Given the description of an element on the screen output the (x, y) to click on. 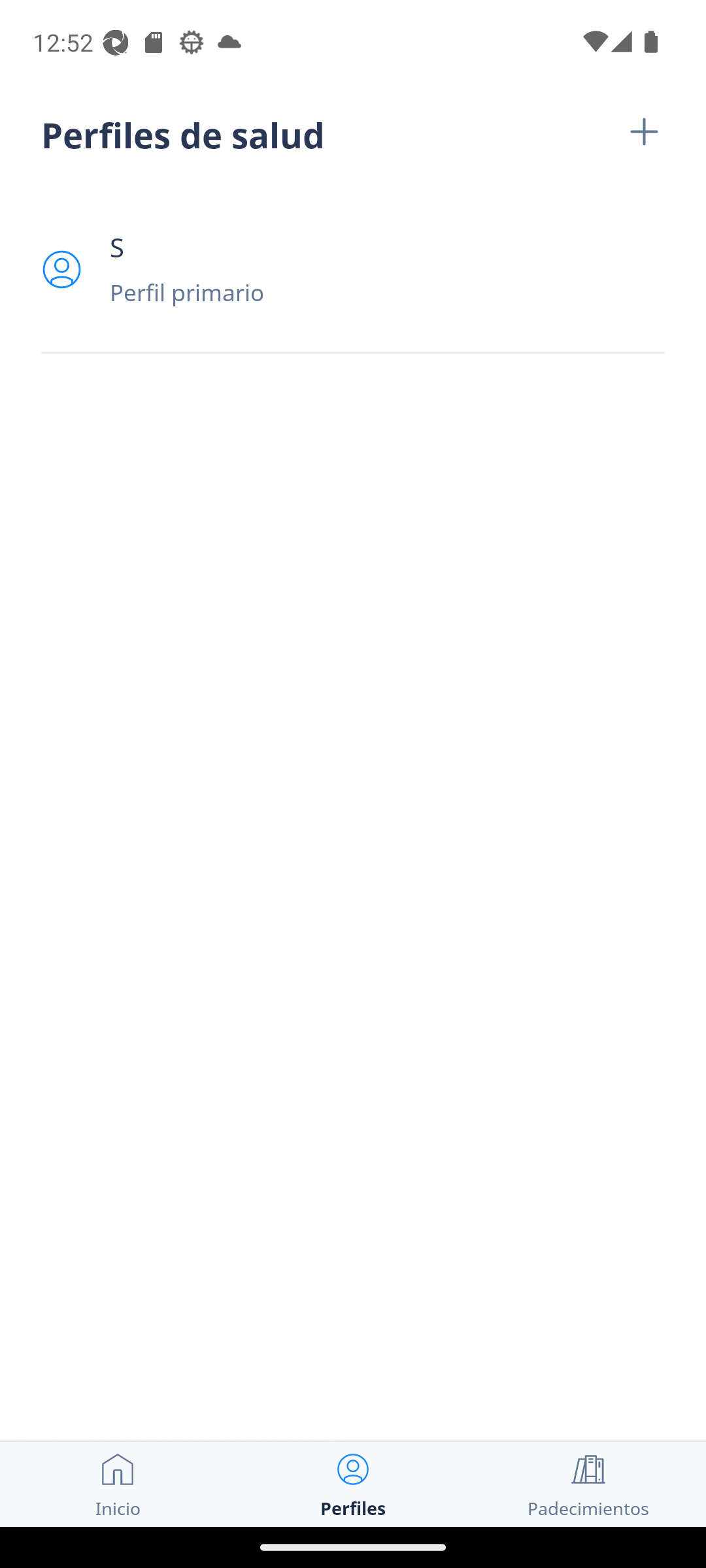
S Perfil primario (352, 269)
Inicio (117, 1484)
Perfiles (352, 1484)
Padecimientos (588, 1484)
